Given the description of an element on the screen output the (x, y) to click on. 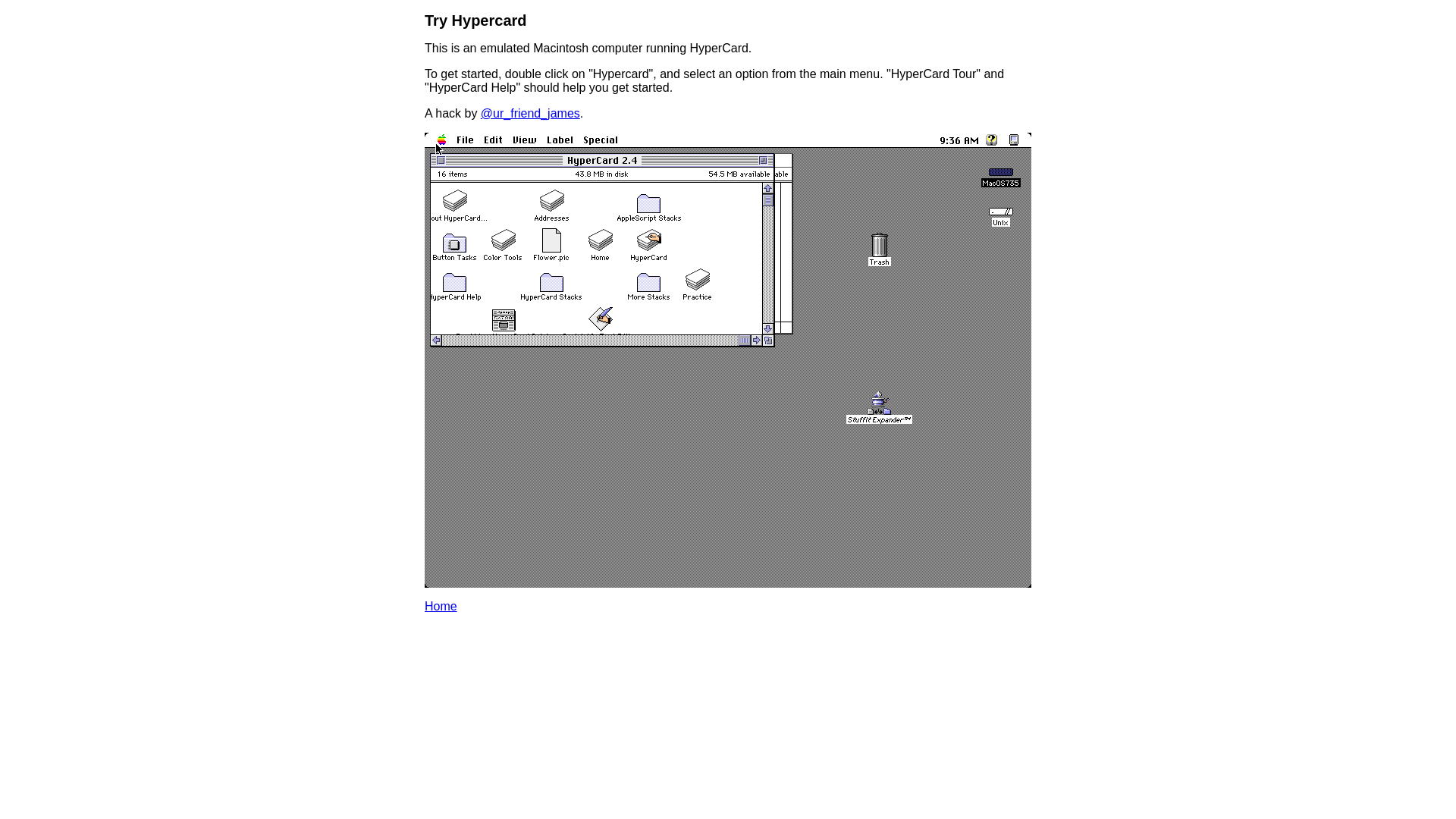
Home Element type: text (440, 651)
@ur_friend_james Element type: text (530, 112)
